Given the description of an element on the screen output the (x, y) to click on. 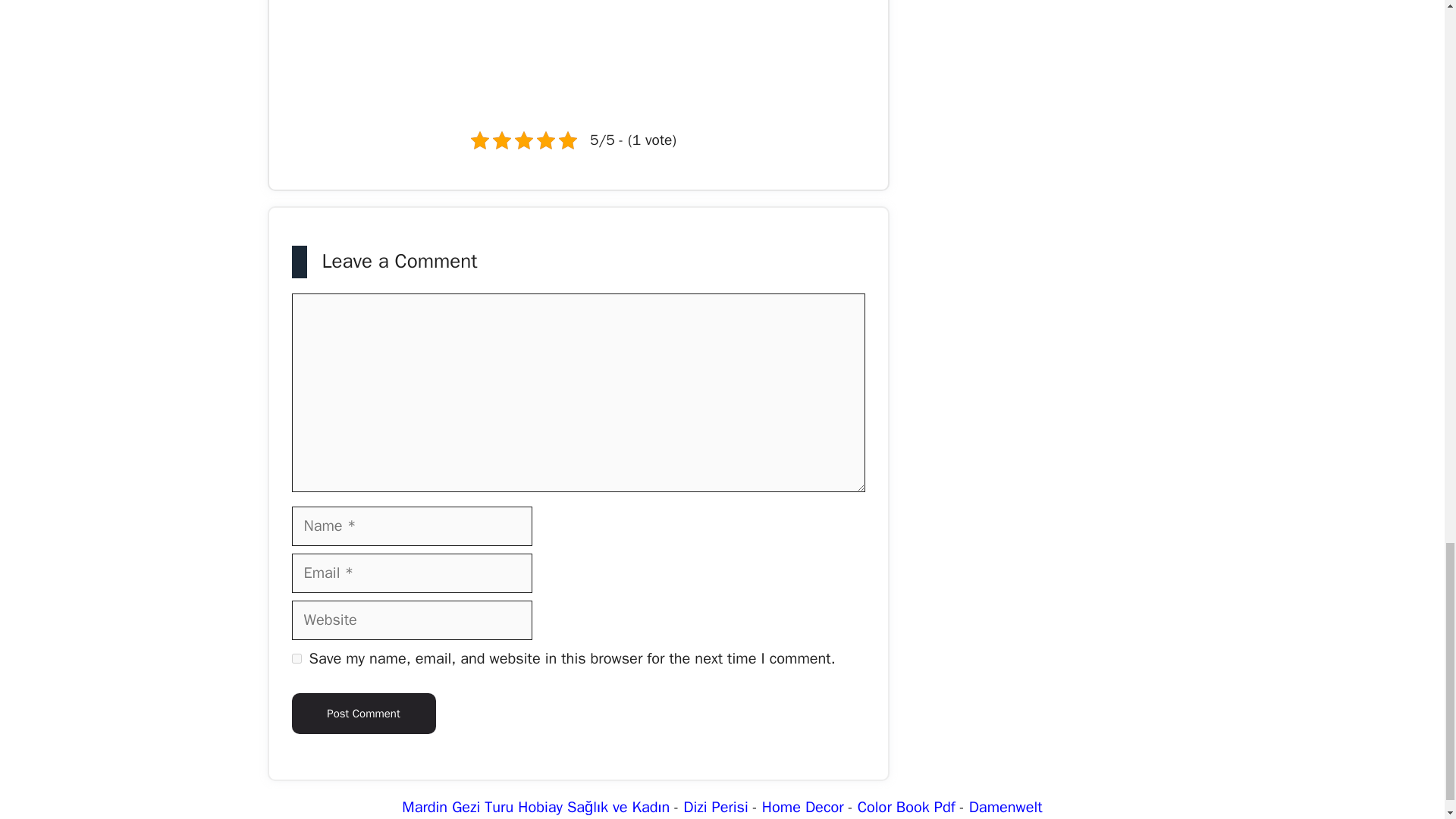
Dizi Perisi (715, 806)
yes (296, 658)
Mardin Gezi Turu (457, 806)
Home Decor (802, 806)
Damenwelt (1005, 806)
Color Book Pdf (906, 806)
Post Comment (363, 712)
Post Comment (363, 712)
